Given the description of an element on the screen output the (x, y) to click on. 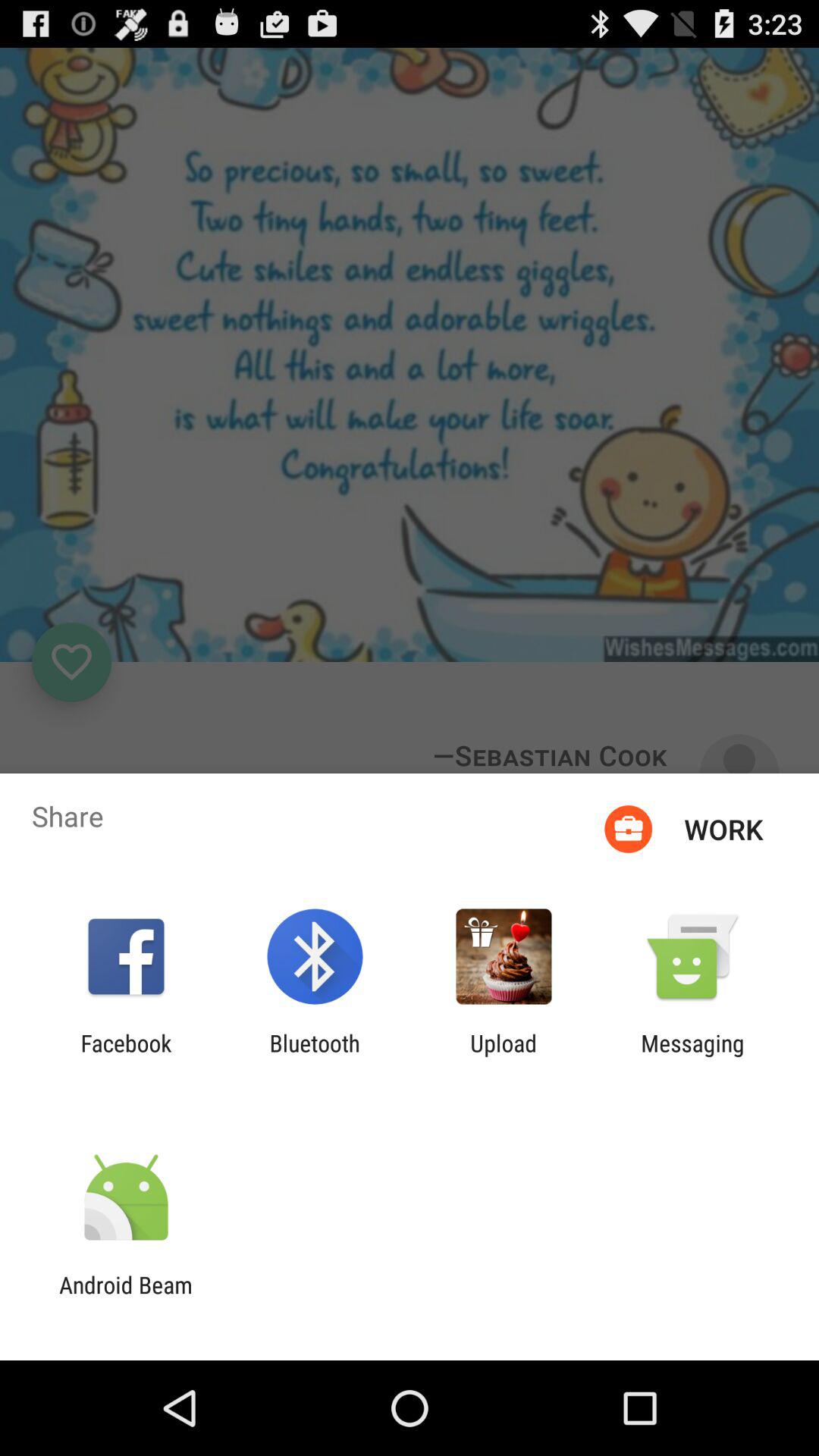
open the app next to the facebook item (314, 1056)
